Given the description of an element on the screen output the (x, y) to click on. 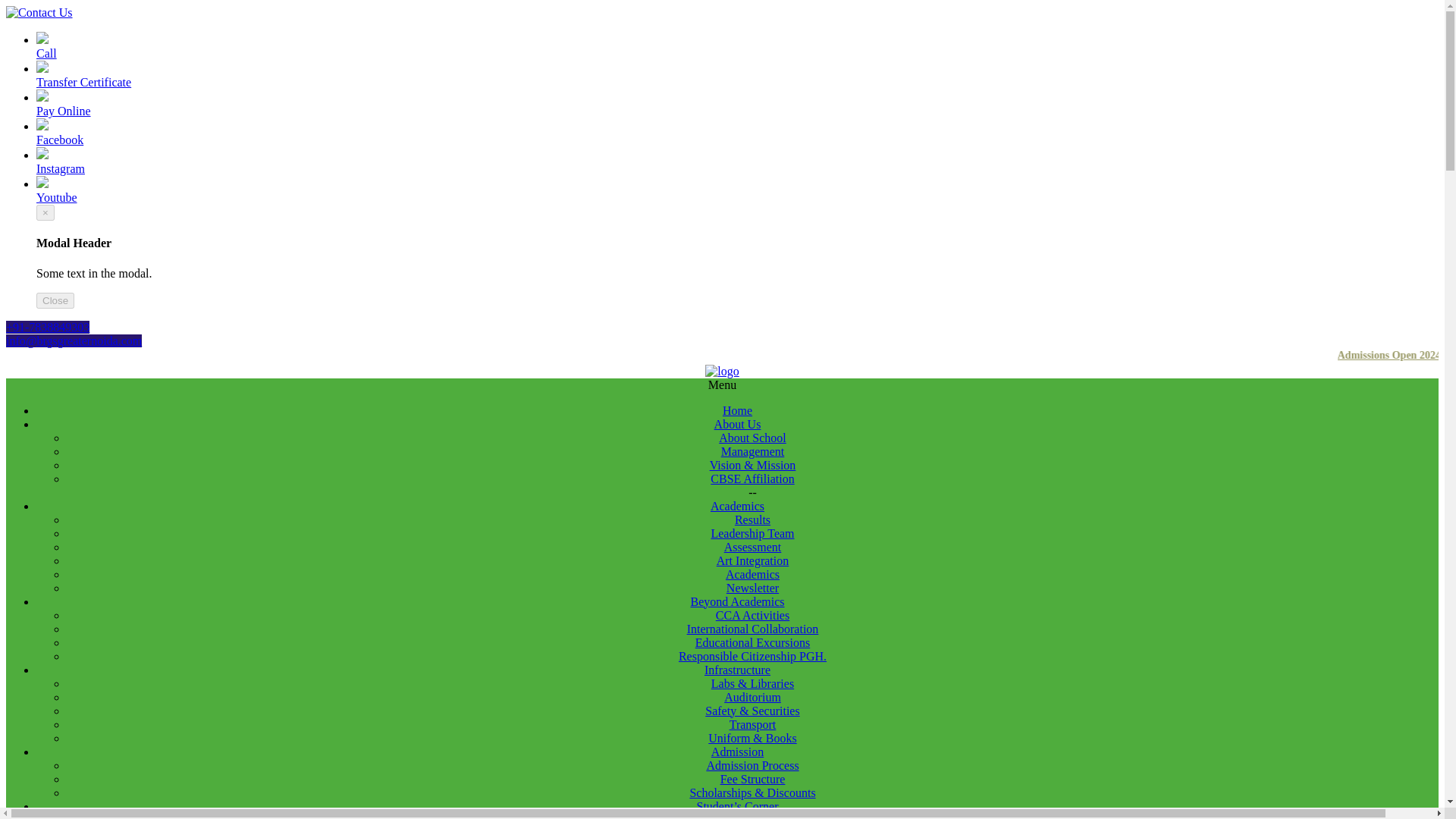
Pay Online (737, 103)
Call (737, 45)
International Collaboration (752, 628)
Assessment (752, 546)
Menu (721, 384)
Facebook (737, 132)
Responsible Citizenship PGH. (752, 656)
Transfer Certificate (737, 74)
Close (55, 300)
Instagram (737, 161)
